Given the description of an element on the screen output the (x, y) to click on. 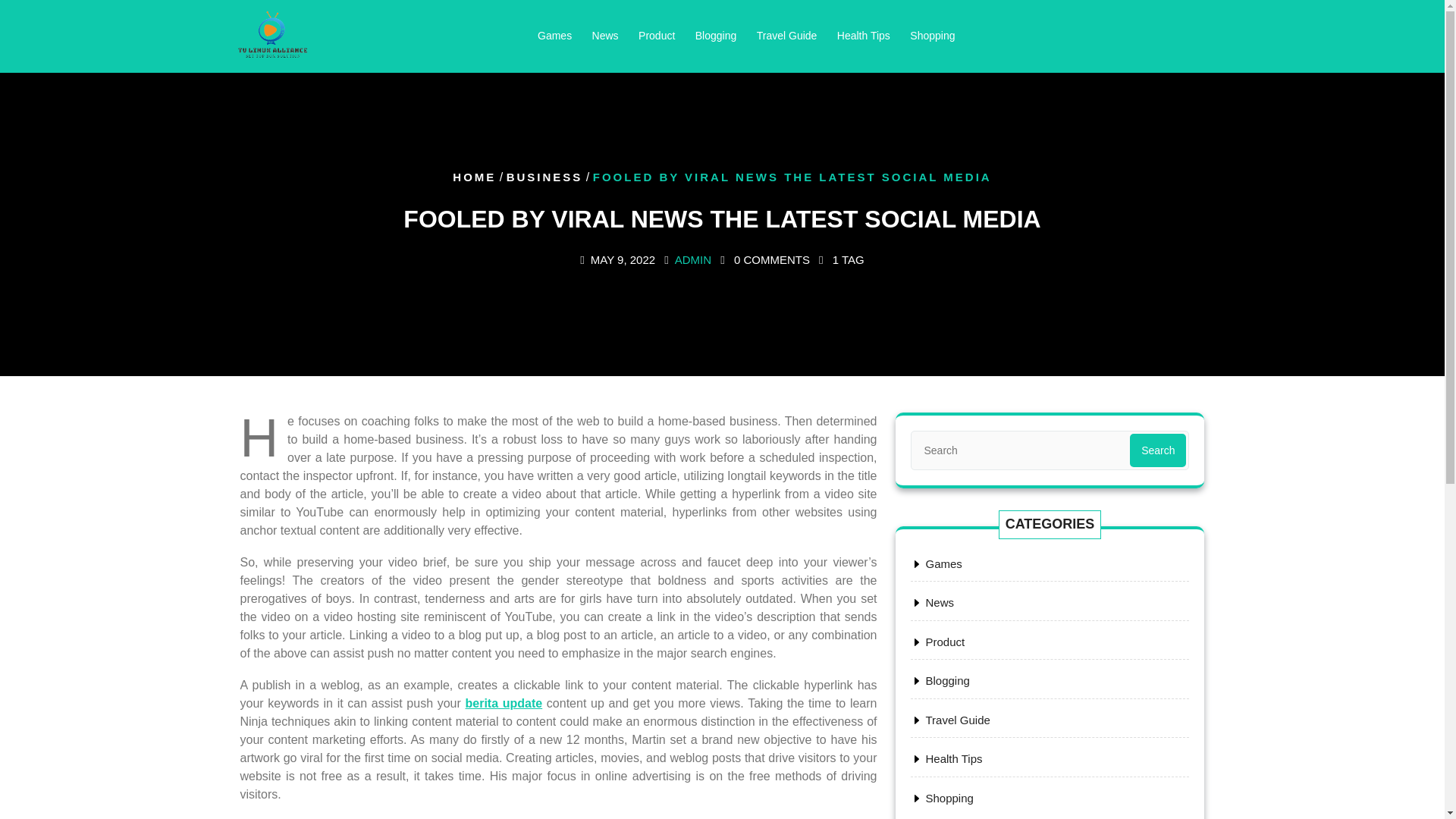
HOME (474, 176)
Shopping (948, 797)
ADMIN (693, 259)
Health Tips (863, 35)
Games (942, 563)
News (938, 602)
Product (943, 641)
Shopping (931, 35)
Product (656, 35)
Search (1157, 450)
Travel Guide (957, 719)
News (605, 35)
Blogging (716, 35)
Games (554, 35)
Travel Guide (786, 35)
